Given the description of an element on the screen output the (x, y) to click on. 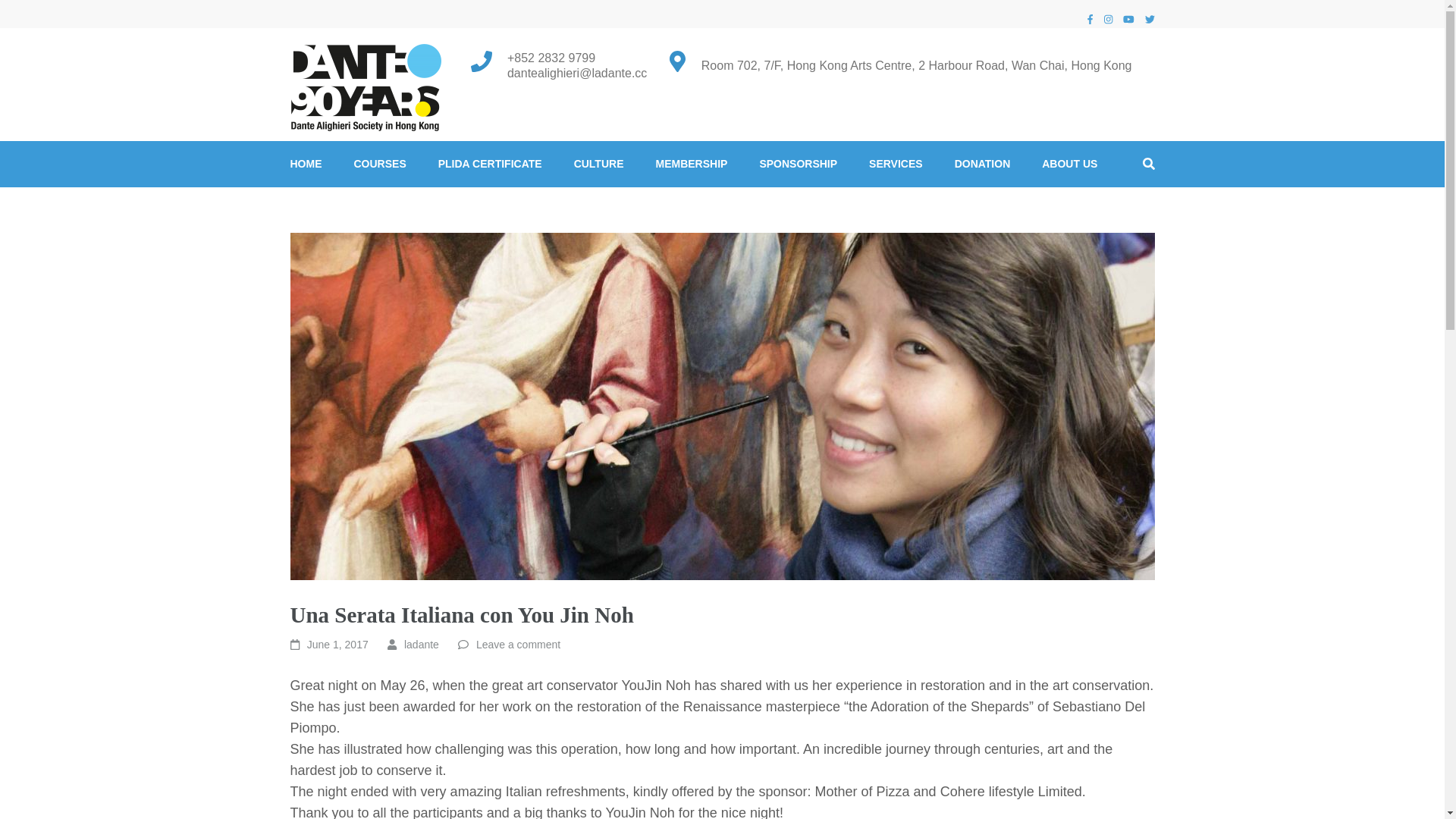
youtube (1128, 19)
